Given the description of an element on the screen output the (x, y) to click on. 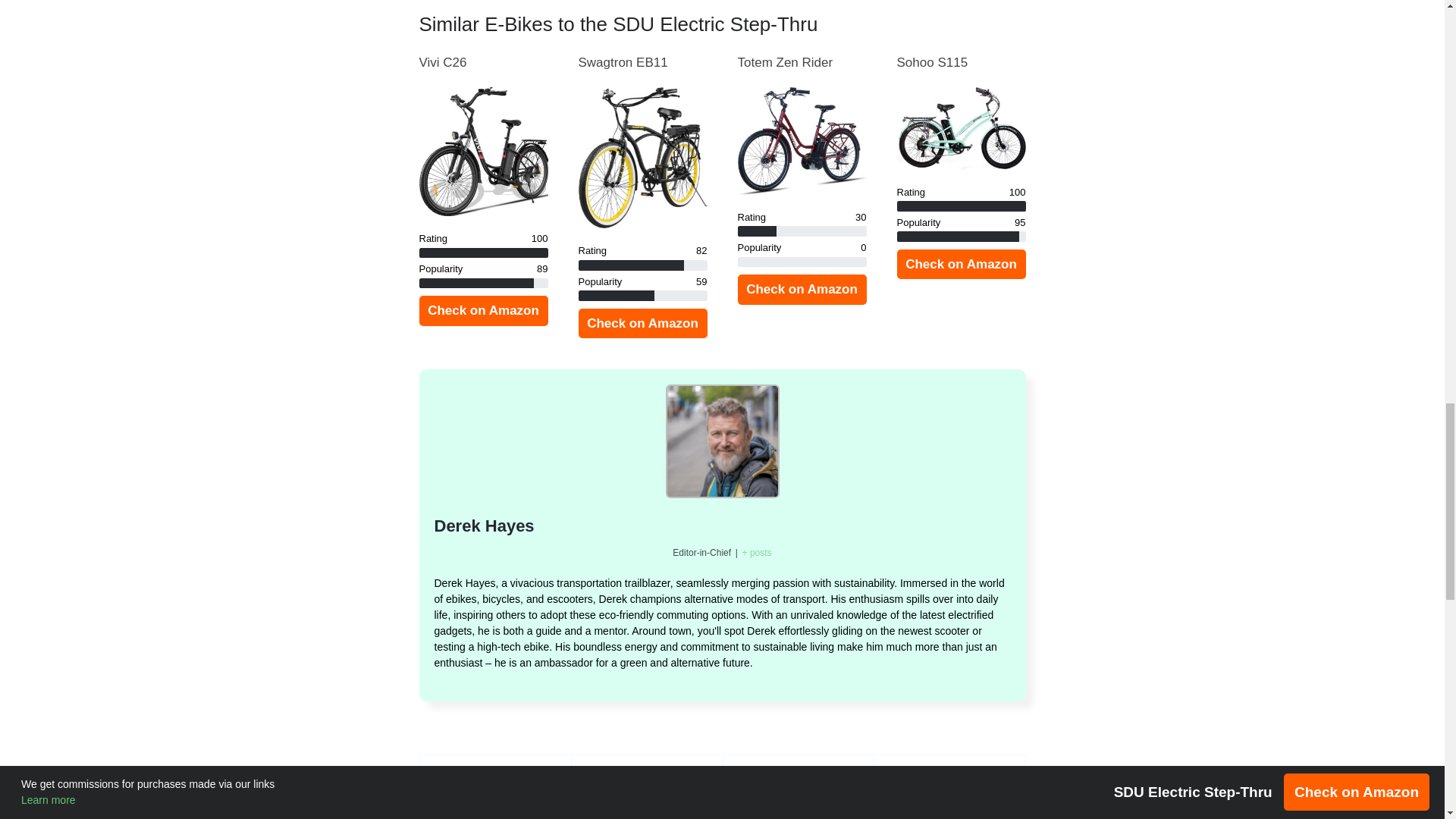
Check on Amazon (483, 310)
Check on Amazon (642, 323)
Swagtron EB11 (622, 62)
Vivi C26 (442, 62)
Check on Amazon (960, 264)
Totem Zen Rider (784, 62)
Check on Amazon (801, 289)
Sohoo S115 (932, 62)
